Given the description of an element on the screen output the (x, y) to click on. 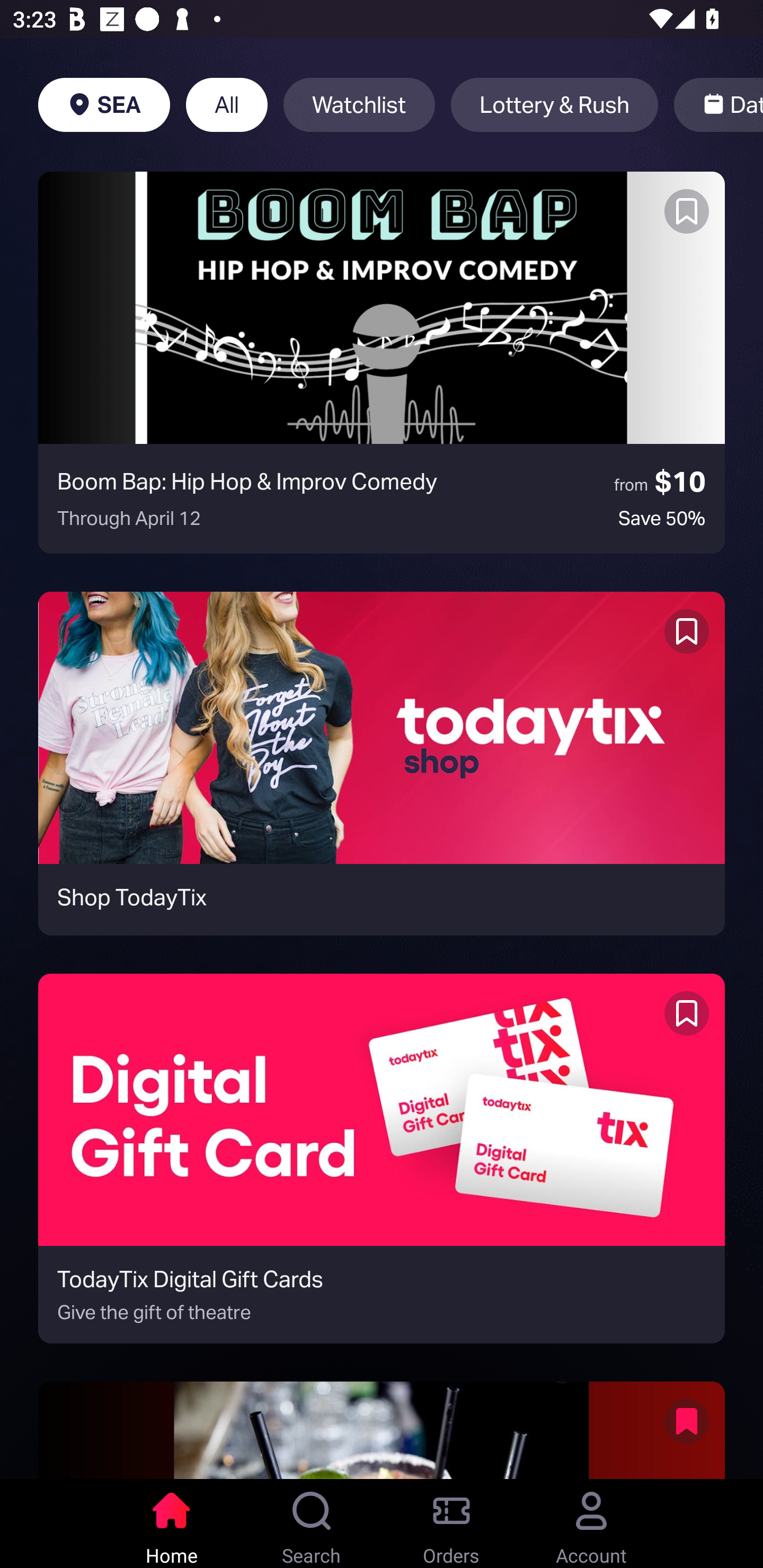
SEA (104, 104)
All (226, 104)
Watchlist (358, 104)
Lottery & Rush (553, 104)
Shop TodayTix (381, 763)
Search (311, 1523)
Orders (451, 1523)
Account (591, 1523)
